Given the description of an element on the screen output the (x, y) to click on. 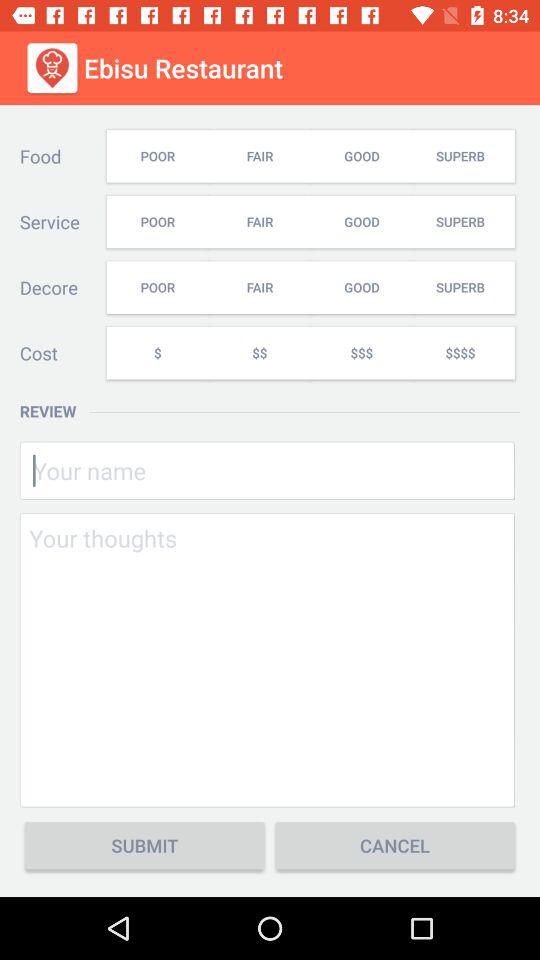
launch icon to the left of the $$$ item (259, 352)
